Given the description of an element on the screen output the (x, y) to click on. 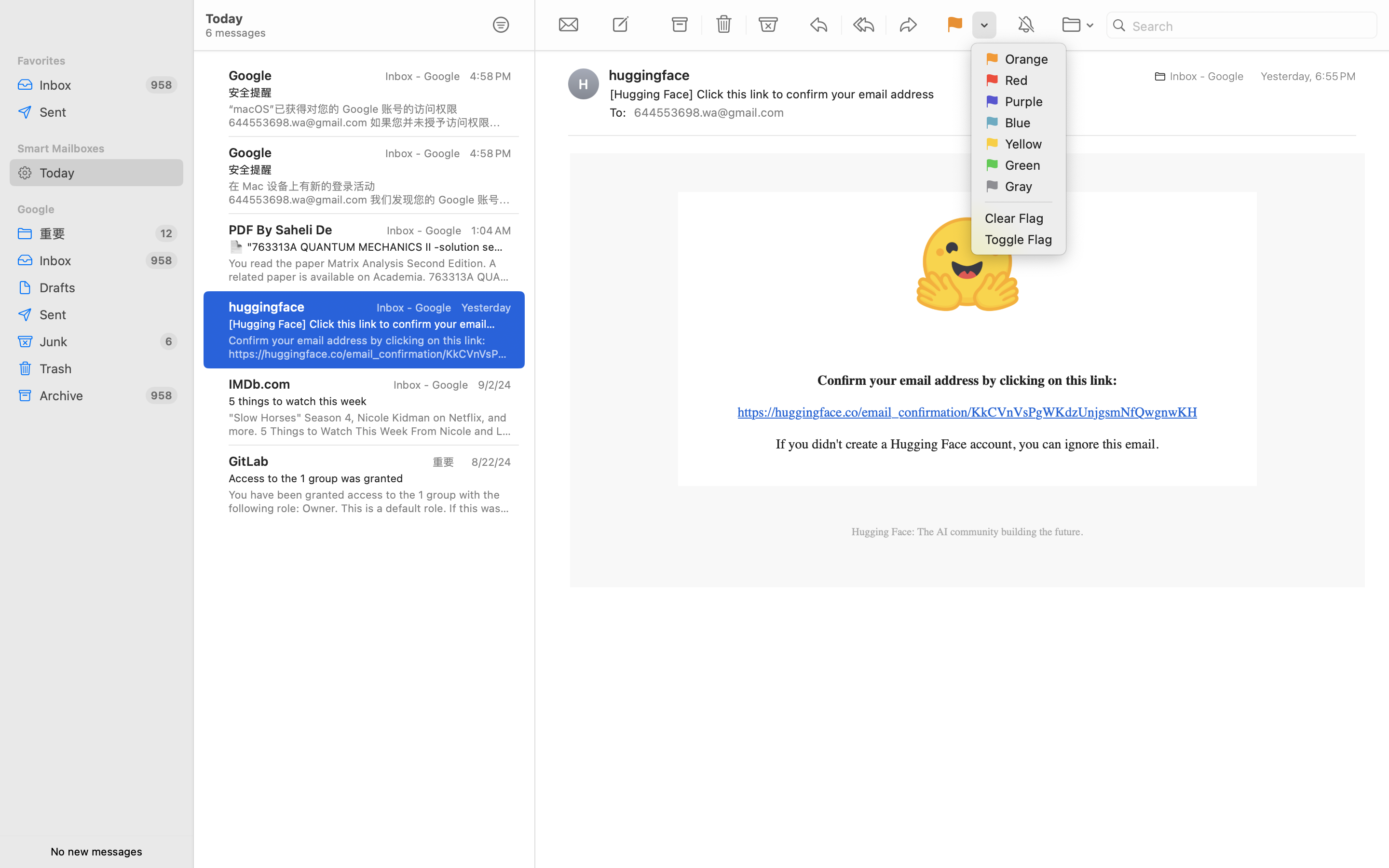
Yesterday Element type: AXStaticText (486, 307)
4:58 PM Element type: AXStaticText (490, 75)
https://huggingface.co/email_confirmation/KkCVnVsPgWKdzUnjgsmNfQwgnwKH Element type: AXStaticText (967, 412)
安全提醒 Element type: AXStaticText (365, 92)
0 Element type: AXCheckBox (500, 25)
